Given the description of an element on the screen output the (x, y) to click on. 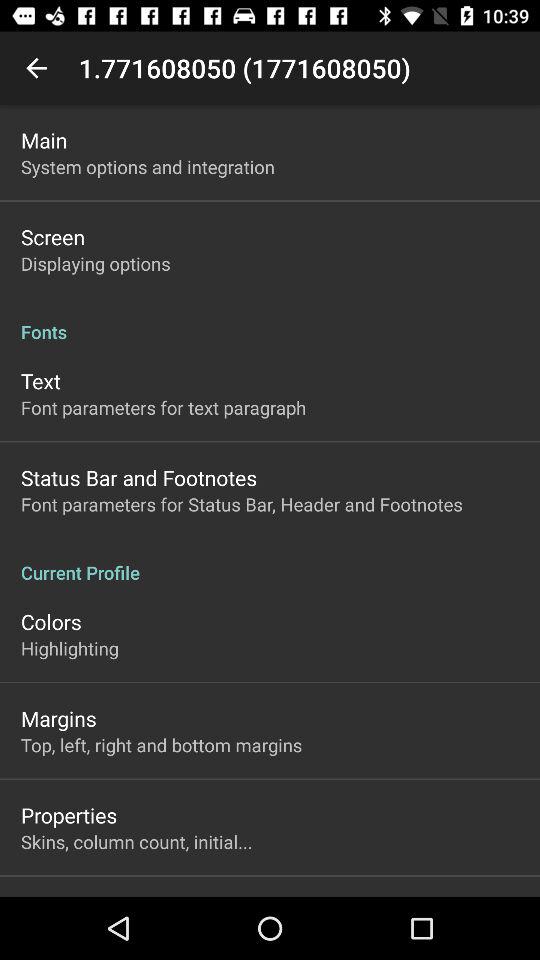
click item above highlighting (51, 621)
